Given the description of an element on the screen output the (x, y) to click on. 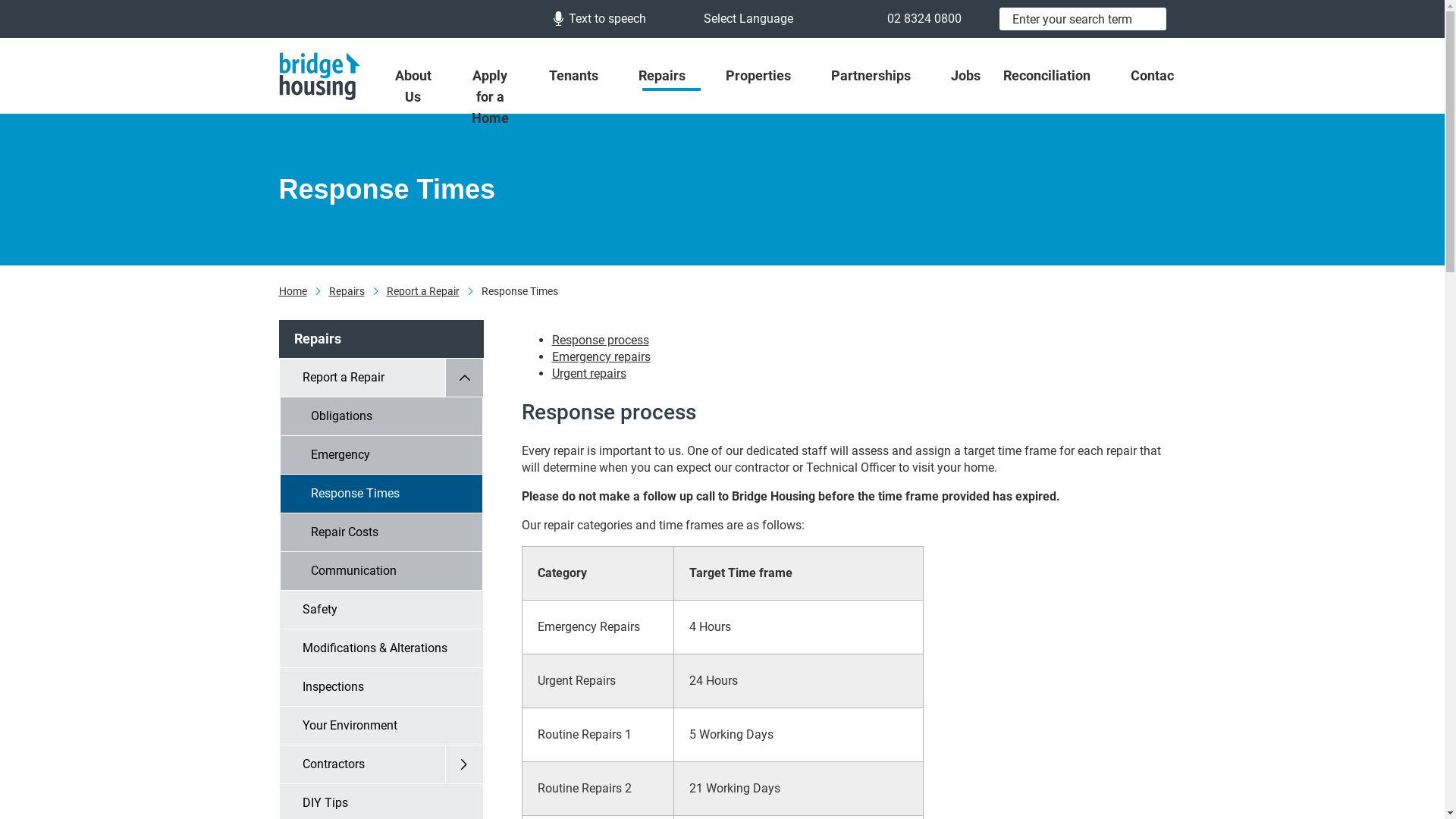
Response process Element type: text (600, 339)
Search Element type: text (1150, 18)
About Us Element type: text (421, 85)
Safety Element type: text (380, 609)
Response Times Element type: text (381, 493)
Reconciliation Element type: text (1055, 75)
Urgent repairs Element type: text (589, 373)
Emergency repairs Element type: text (601, 356)
Obligations Element type: text (381, 416)
Communication Element type: text (381, 571)
Apply for a Home Element type: text (497, 96)
Emergency Element type: text (381, 455)
02 8324 0800 Element type: text (913, 18)
Contractors Element type: text (380, 764)
Your Environment Element type: text (380, 725)
Jobs Element type: text (964, 75)
Report a Repair Element type: text (422, 291)
Repairs Element type: text (381, 339)
Repairs Element type: text (346, 291)
Repair Costs Element type: text (381, 532)
Contact Element type: text (1154, 75)
Text to speech Element type: text (599, 18)
Modifications & Alterations Element type: text (380, 648)
Inspections Element type: text (380, 687)
Partnerships Element type: text (878, 75)
Report a Repair Element type: text (380, 377)
Properties Element type: text (766, 75)
Tenants Element type: text (581, 75)
Home Element type: text (293, 291)
Repairs Element type: text (669, 75)
